Given the description of an element on the screen output the (x, y) to click on. 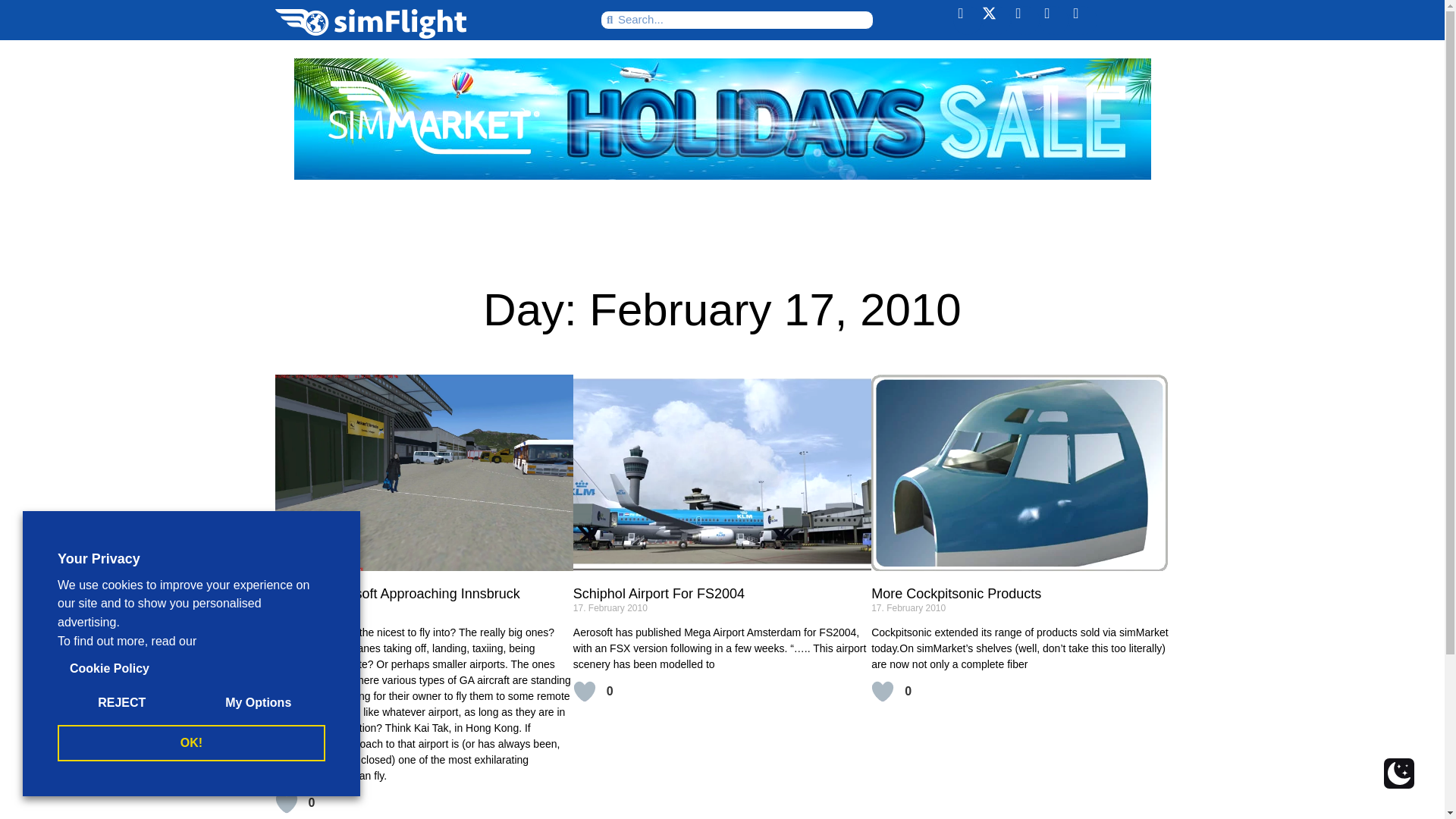
Schiphol Airport For FS2004 (658, 593)
OK! (191, 742)
More Cockpitsonic Products (955, 593)
My Options (257, 703)
Review: Aerosoft Approaching Innsbruck (397, 593)
Cookie Policy (109, 668)
REJECT (122, 702)
